Given the description of an element on the screen output the (x, y) to click on. 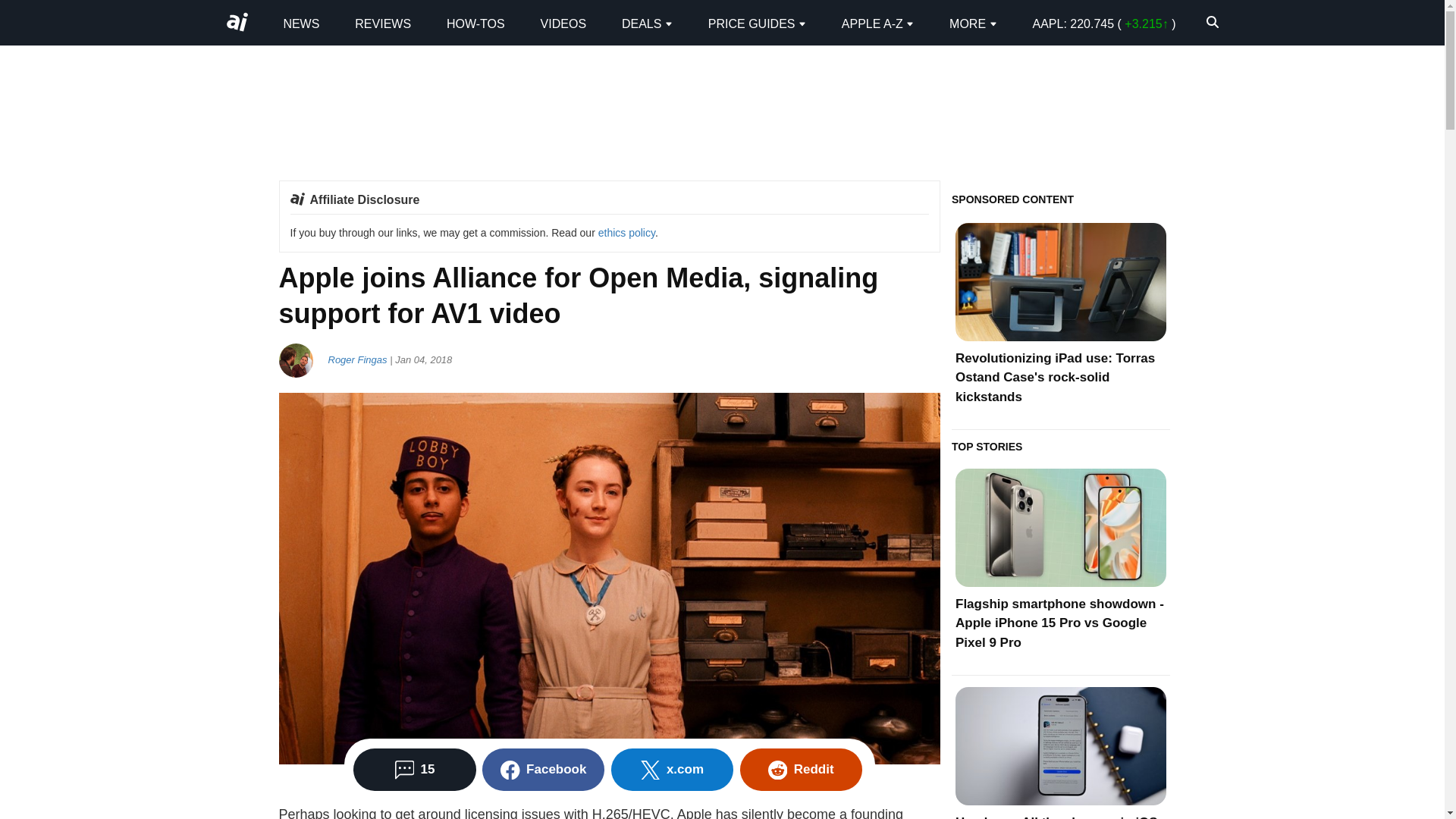
REVIEWS (382, 23)
NEWS (300, 23)
VIDEOS (563, 23)
HOW-TOS (475, 23)
News (300, 23)
Reviews (382, 23)
How-Tos (475, 23)
Videos (563, 23)
